Given the description of an element on the screen output the (x, y) to click on. 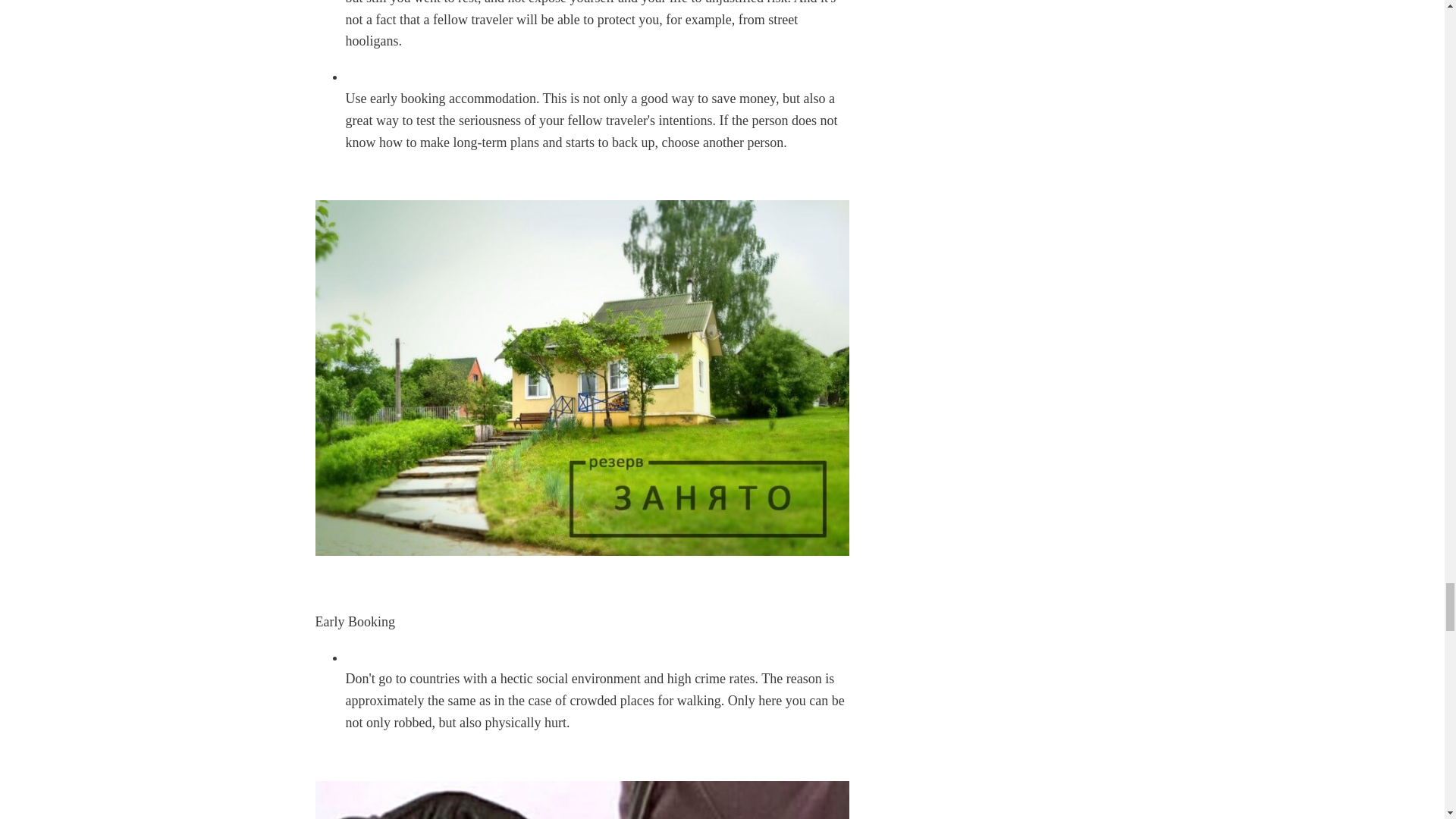
Don't go to high crime countries (581, 800)
